Given the description of an element on the screen output the (x, y) to click on. 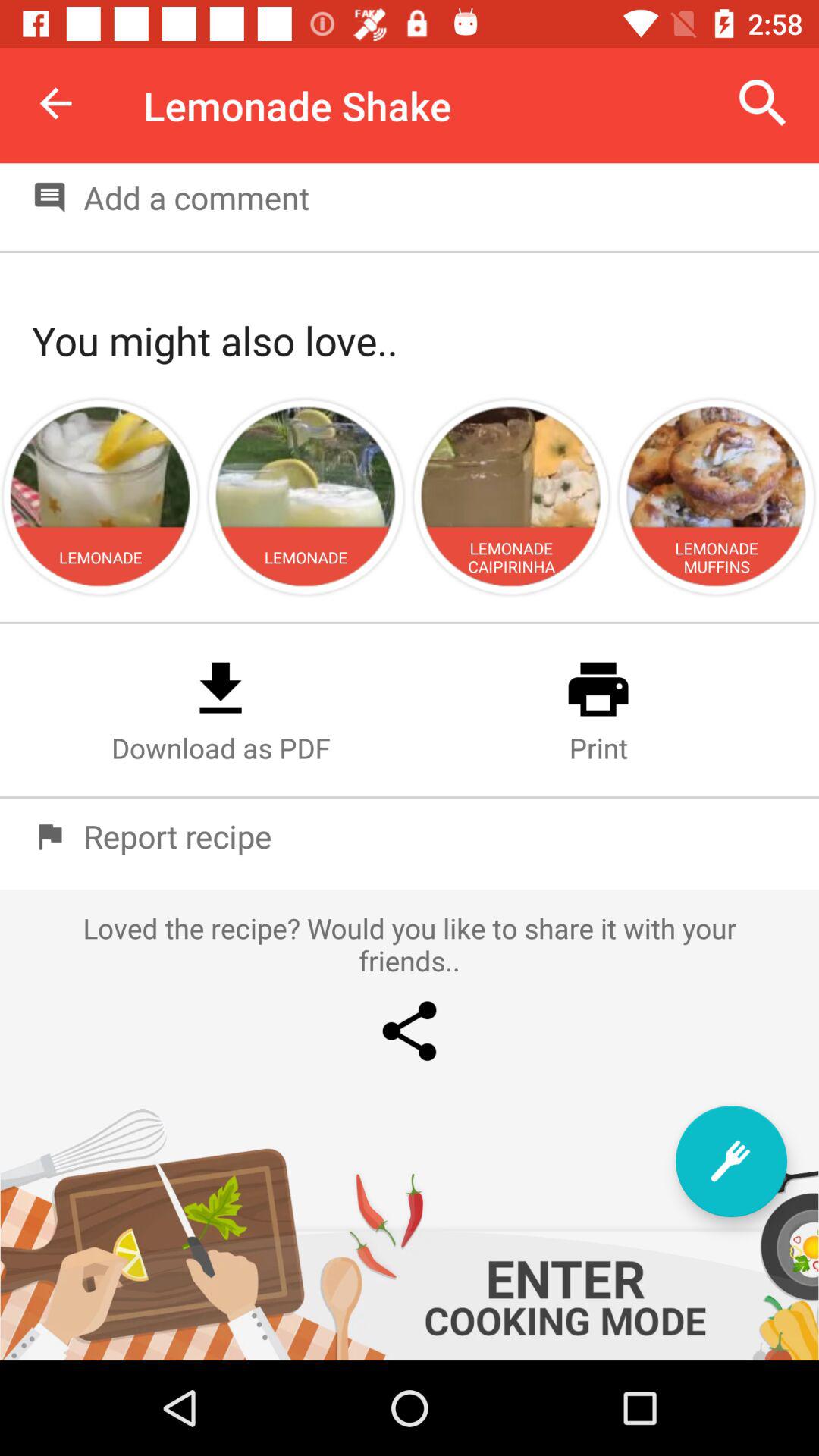
edit the recipe (731, 1161)
